Given the description of an element on the screen output the (x, y) to click on. 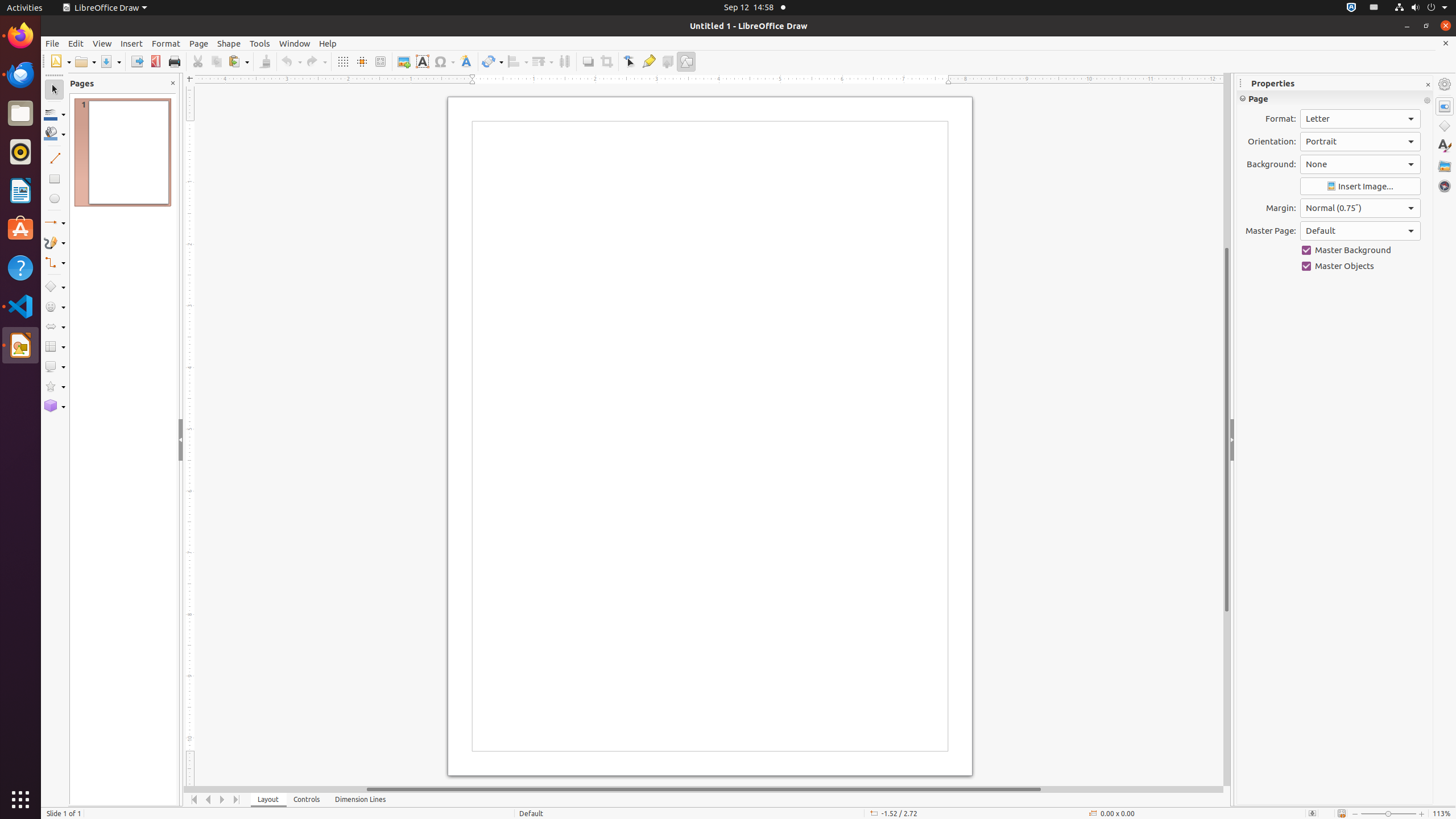
System Element type: menu (1420, 7)
Edit Element type: menu (75, 43)
Format Element type: menu (165, 43)
Move To Home Element type: push-button (194, 799)
Move To End Element type: push-button (236, 799)
